Given the description of an element on the screen output the (x, y) to click on. 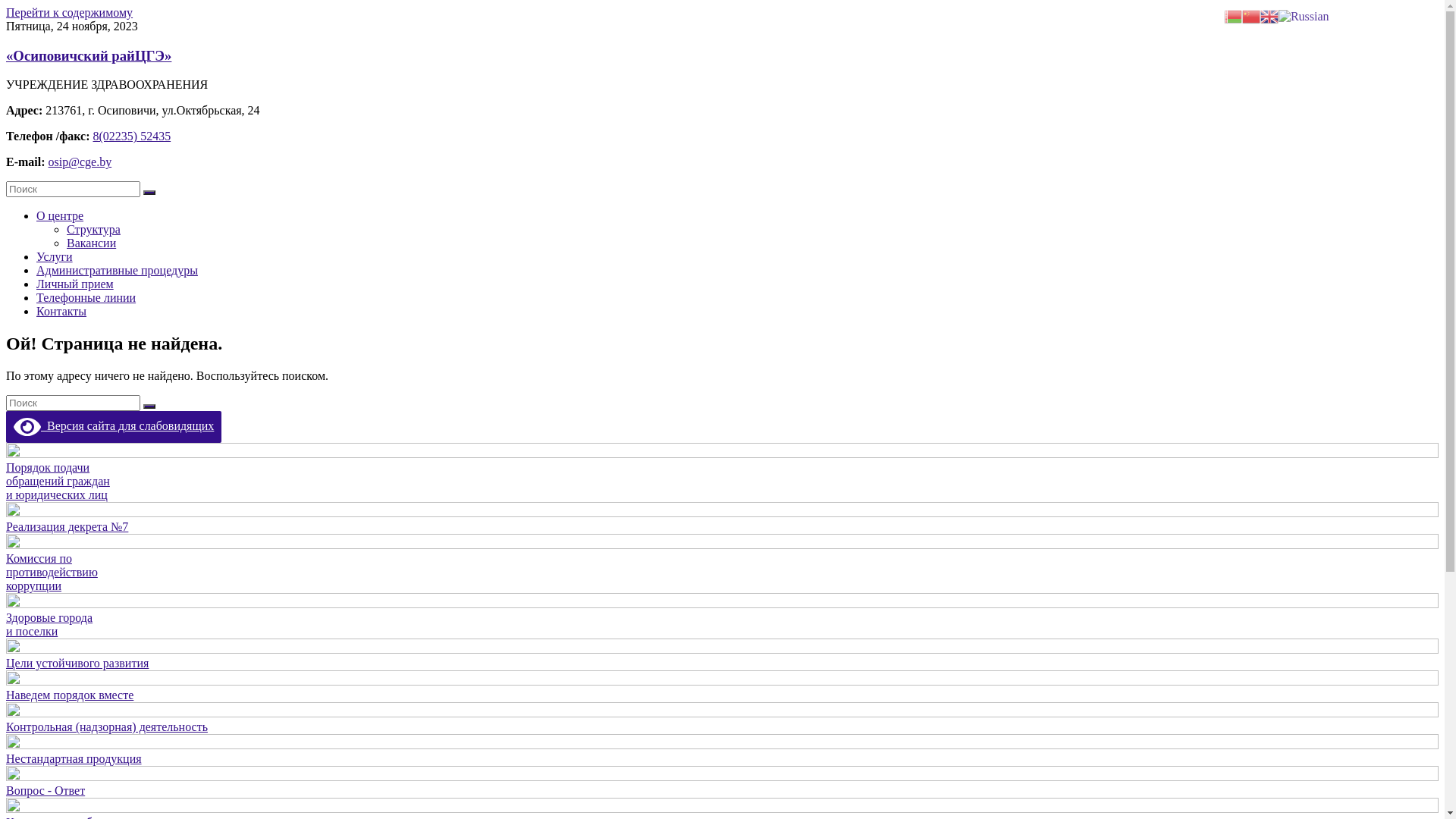
Belarusian Element type: hover (1232, 15)
osip@cge.by Element type: text (80, 161)
Chinese (Simplified) Element type: hover (1251, 15)
8(02235) 52435 Element type: text (131, 135)
English Element type: hover (1269, 15)
Russian Element type: hover (1303, 15)
